Given the description of an element on the screen output the (x, y) to click on. 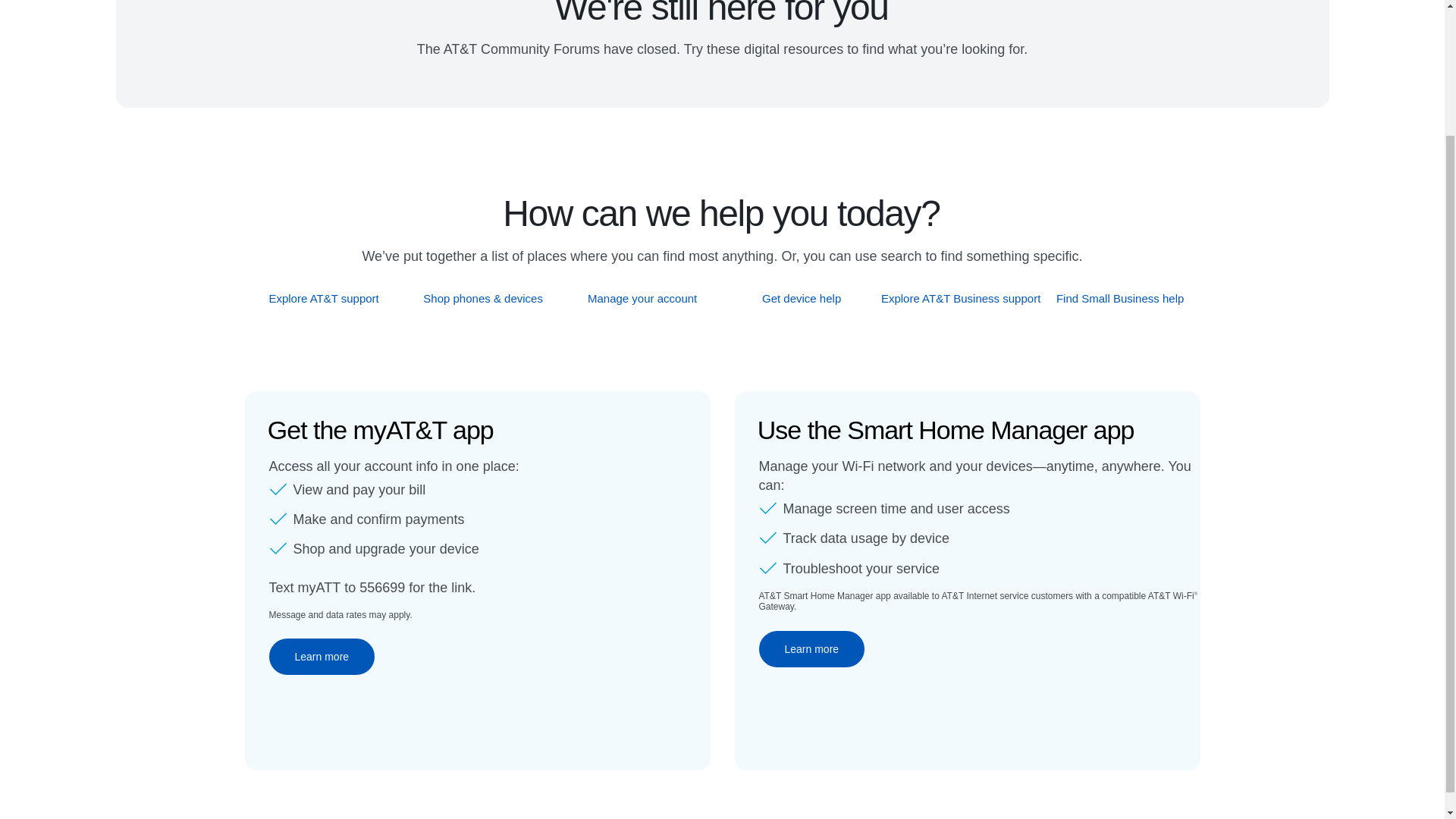
Get device help (801, 298)
Find Small Business help (1121, 298)
Learn more (811, 648)
Manage your account (642, 298)
Learn more (320, 656)
